Given the description of an element on the screen output the (x, y) to click on. 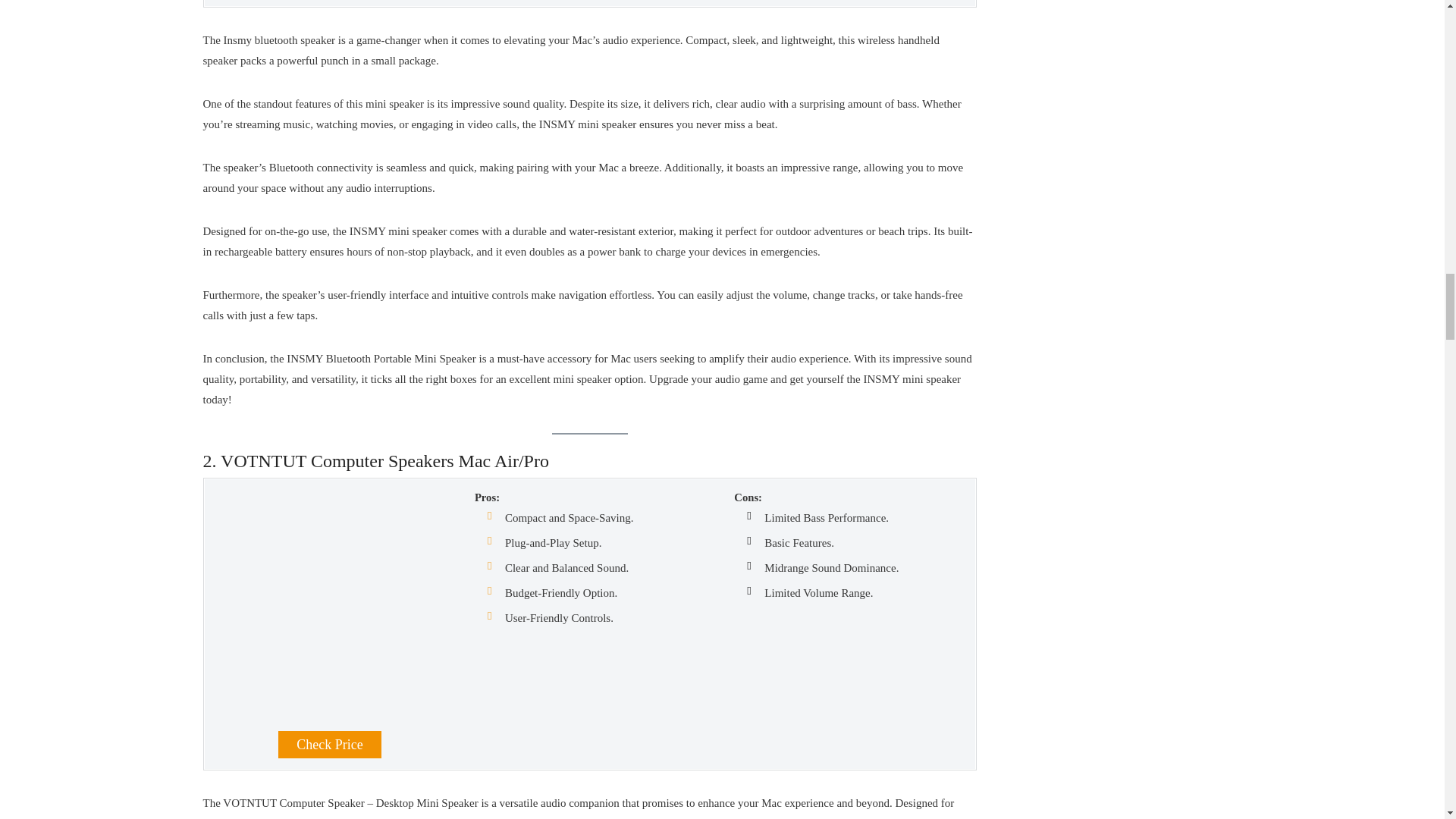
Check Amazon Price (329, 744)
